Given the description of an element on the screen output the (x, y) to click on. 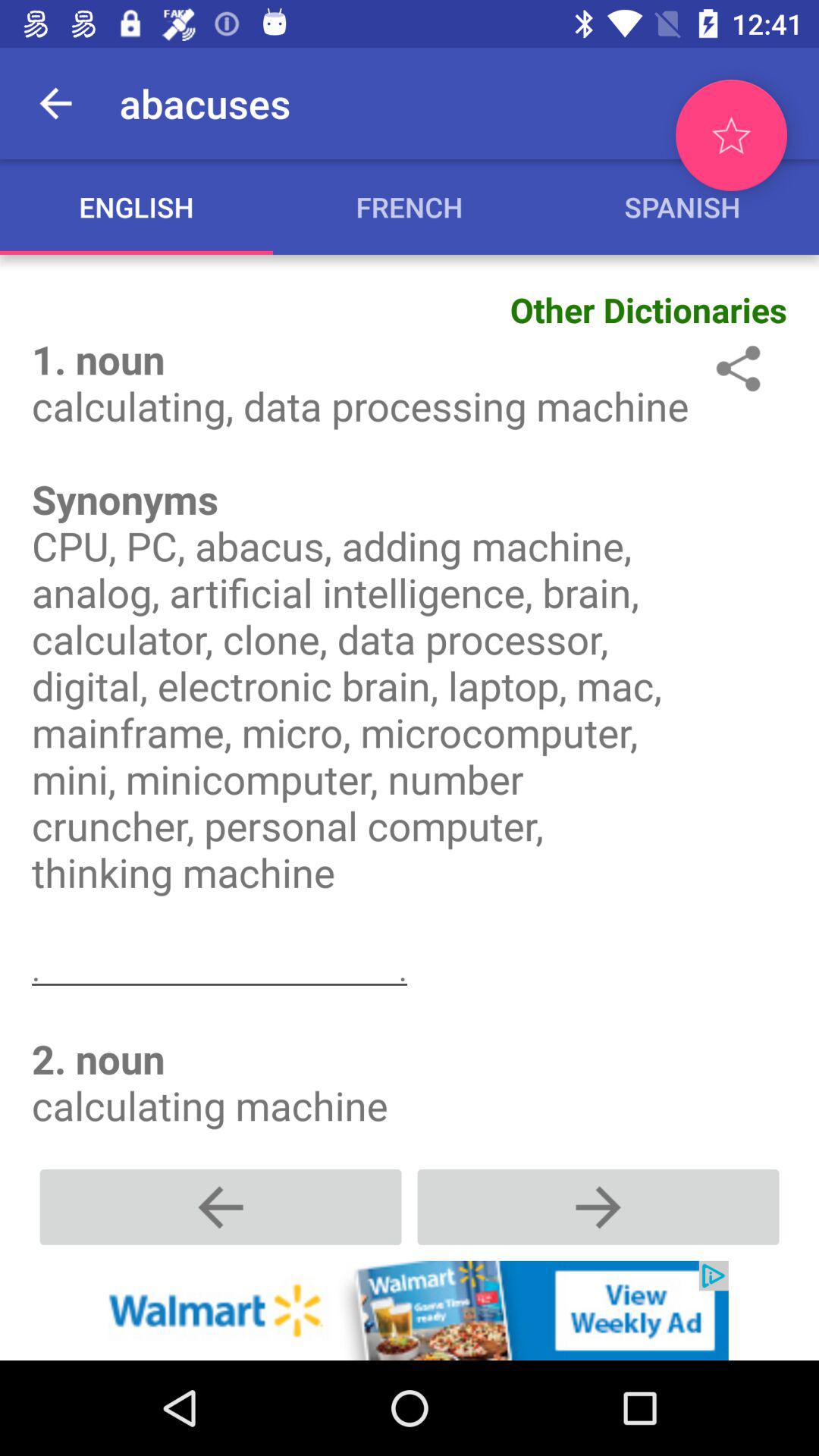
click on next (598, 1206)
